Given the description of an element on the screen output the (x, y) to click on. 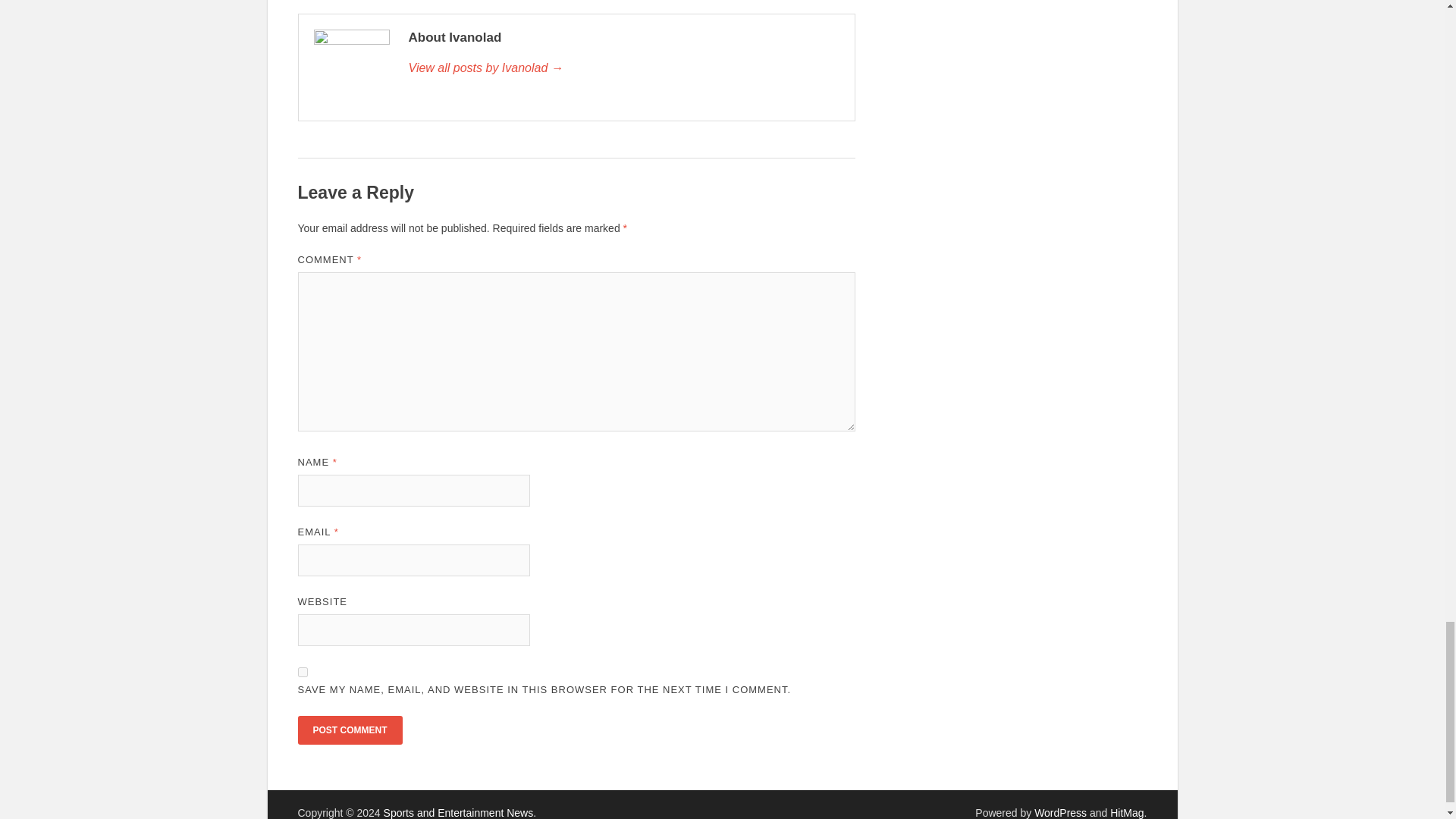
yes (302, 672)
Post Comment (349, 729)
Ivanolad (622, 67)
